Given the description of an element on the screen output the (x, y) to click on. 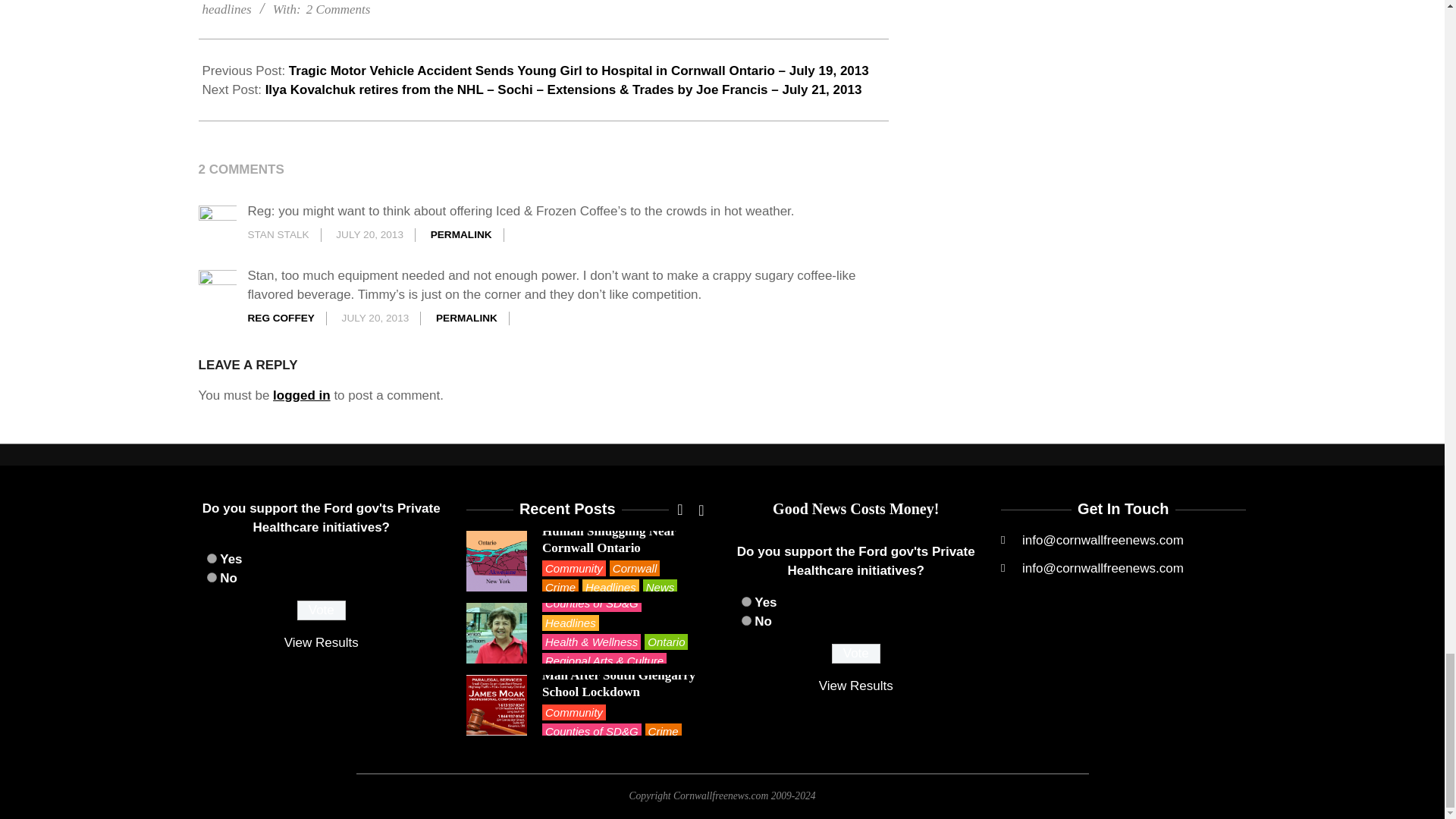
1776 (746, 601)
Saturday, July 20, 2013, 5:03 pm (375, 317)
View Results Of This Poll (320, 642)
   Vote    (321, 609)
1777 (210, 577)
View Results Of This Poll (855, 685)
Saturday, July 20, 2013, 12:45 pm (369, 234)
   Vote    (855, 653)
1776 (210, 558)
1777 (746, 620)
